Given the description of an element on the screen output the (x, y) to click on. 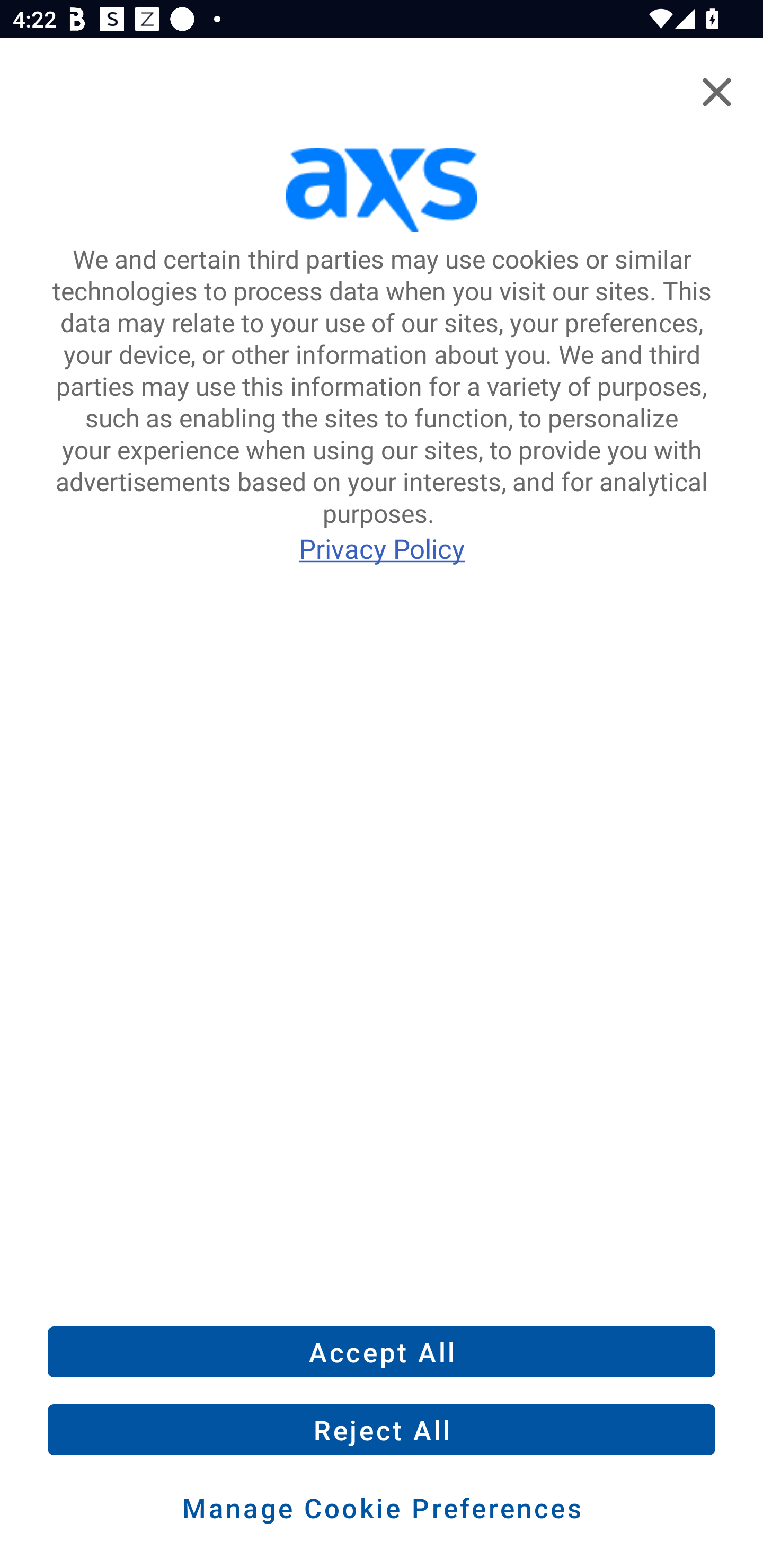
Close (716, 92)
Privacy Policy (381, 547)
Accept All (381, 1351)
Reject All (381, 1429)
Manage Cookie Preferences (381, 1507)
